Given the description of an element on the screen output the (x, y) to click on. 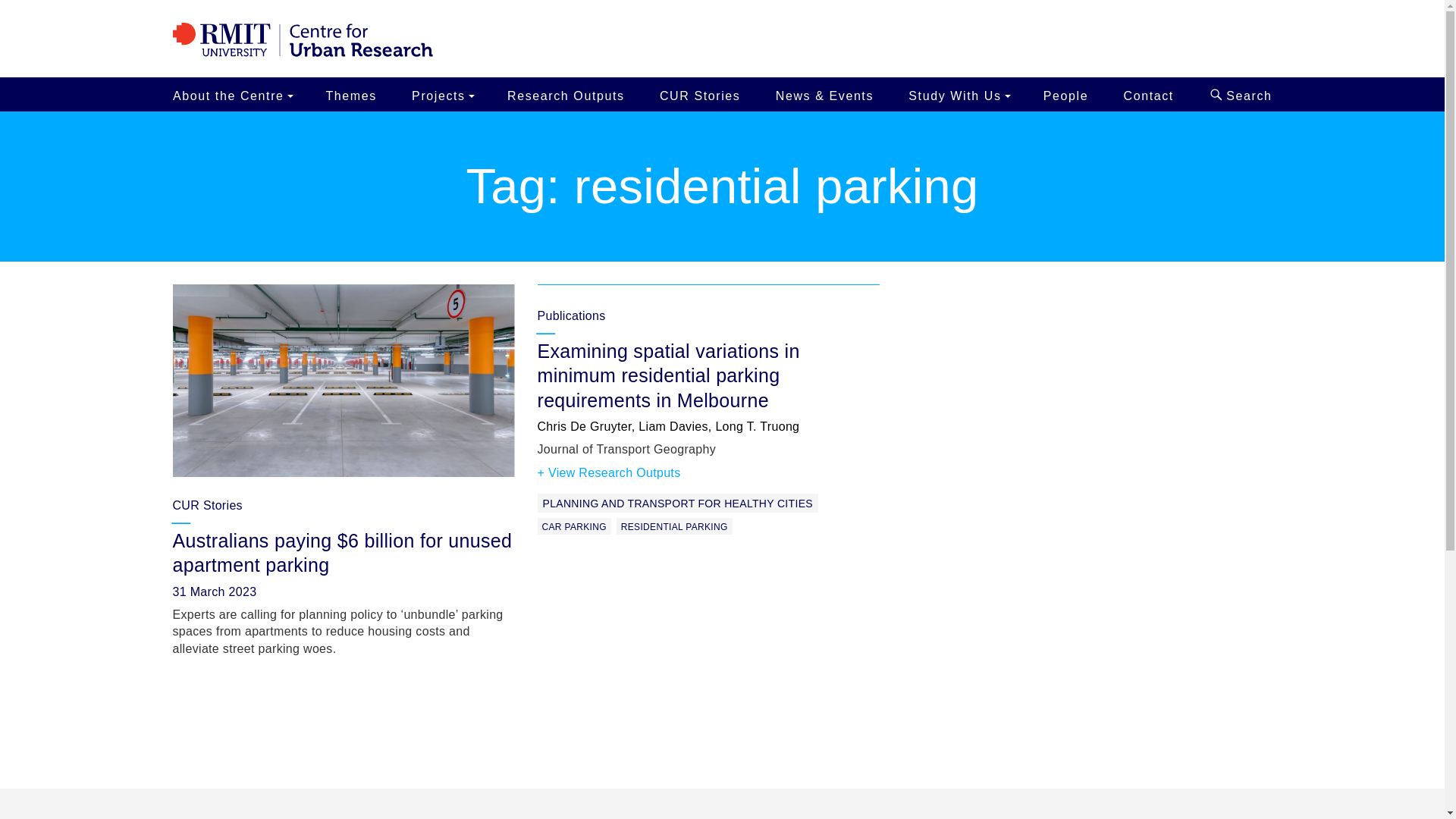
Projects (442, 93)
Chris De Gruyter (583, 426)
CAR PARKING (573, 525)
About the Centre (235, 93)
RESIDENTIAL PARKING (673, 525)
Study With Us (957, 93)
Liam Davies (673, 426)
People (1065, 93)
PLANNING AND TRANSPORT FOR HEALTHY CITIES (676, 502)
Contact (1148, 93)
View Research Outputs (608, 473)
CUR Stories (700, 93)
CUR Stories (208, 504)
Search (1236, 93)
Publications (708, 304)
